Given the description of an element on the screen output the (x, y) to click on. 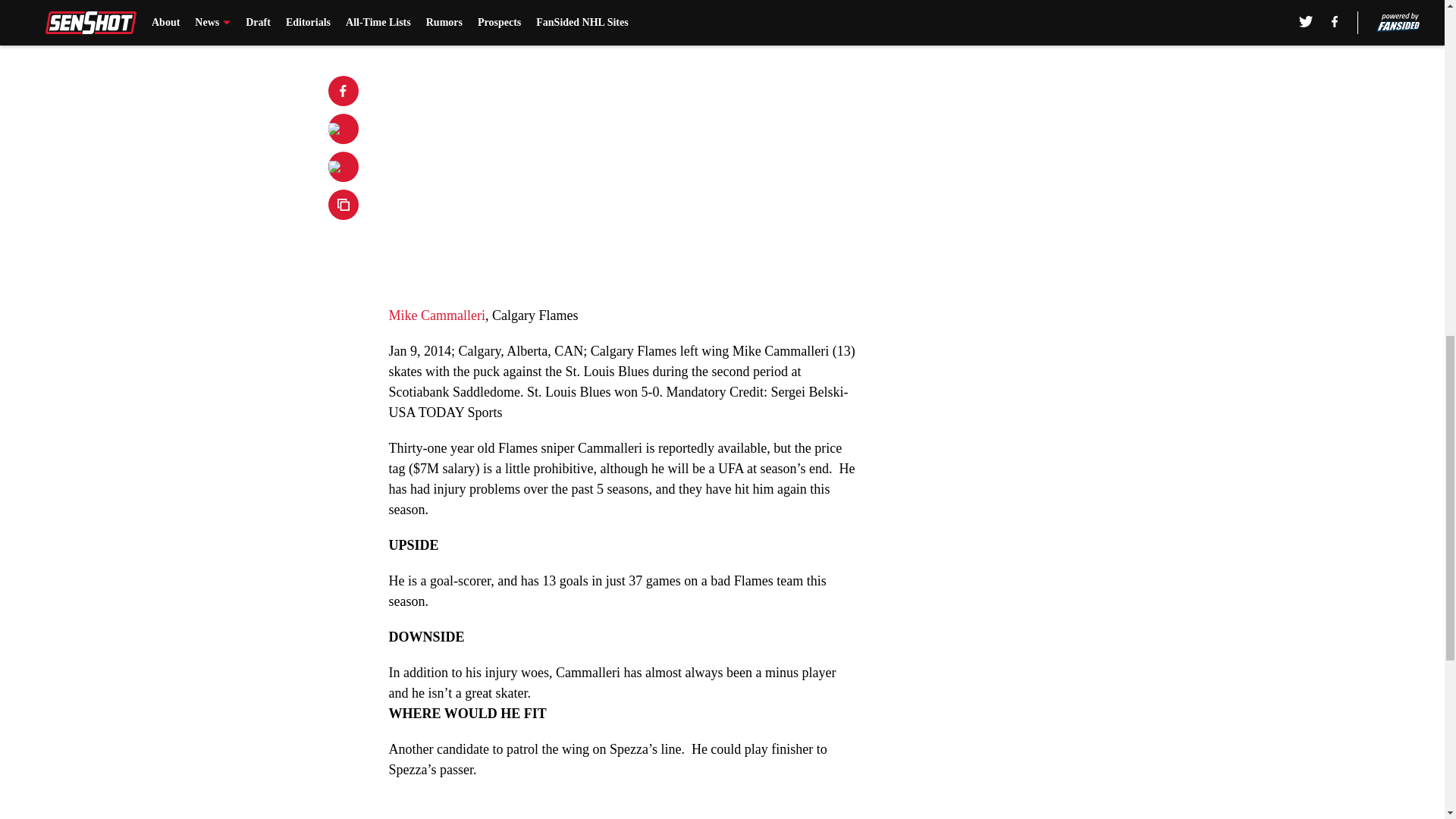
Mike Cammalleri (436, 314)
Prev (433, 5)
Next (813, 5)
